Given the description of an element on the screen output the (x, y) to click on. 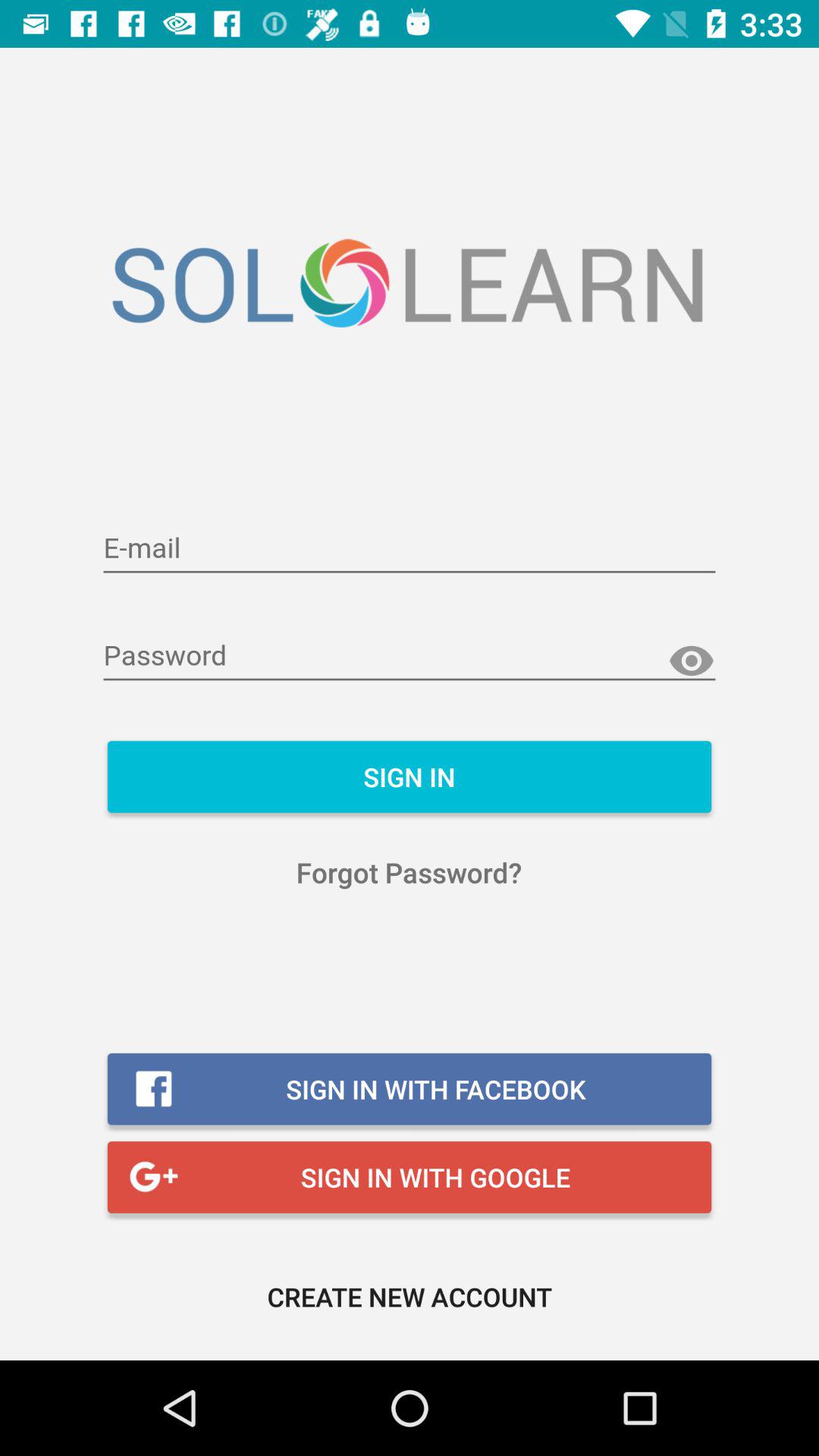
tap the create new account icon (409, 1296)
